Given the description of an element on the screen output the (x, y) to click on. 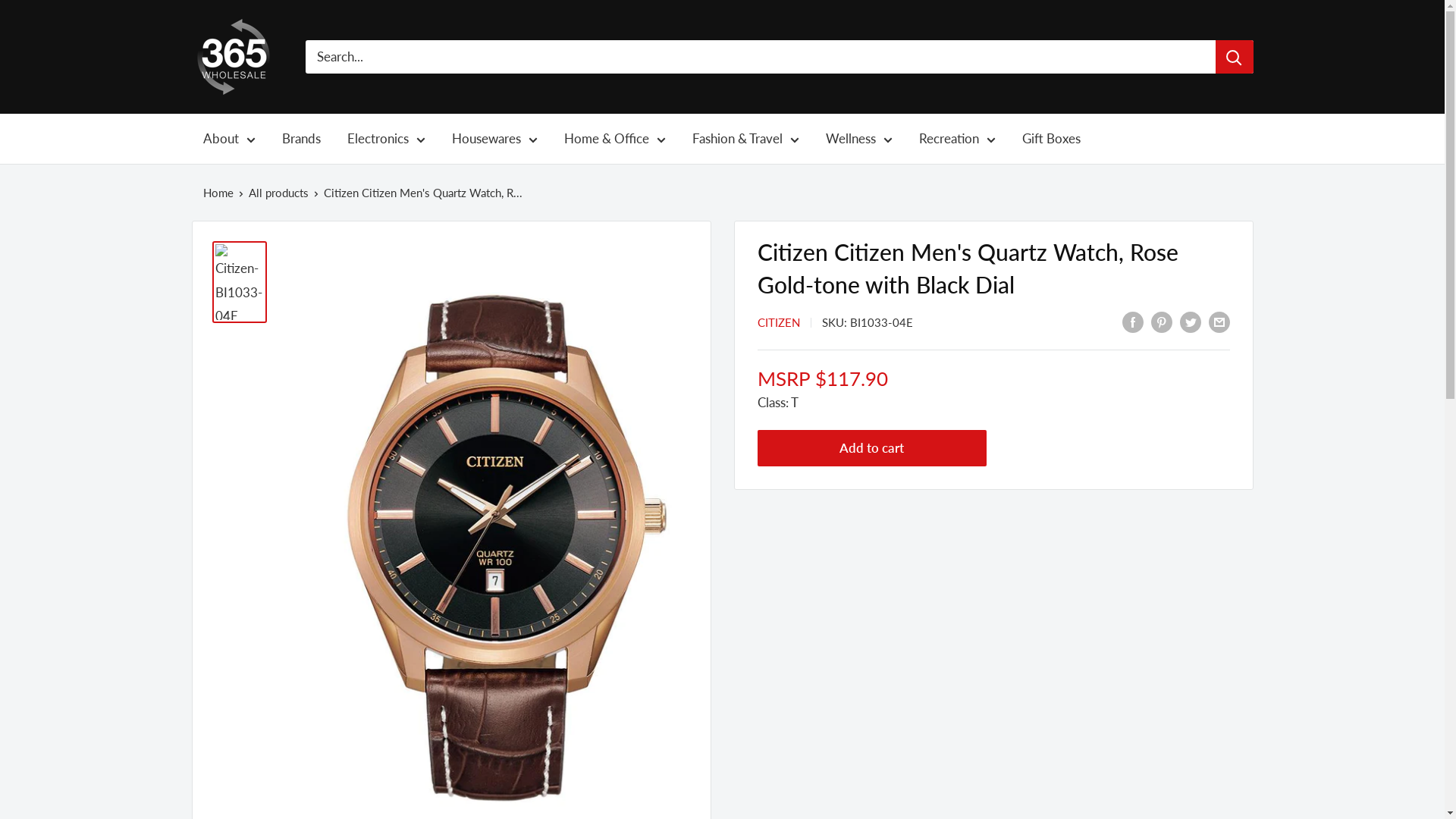
Electronics Element type: text (386, 138)
Home Element type: text (218, 192)
Fashion & Travel Element type: text (744, 138)
Brands Element type: text (301, 138)
All products Element type: text (278, 192)
CITIZEN Element type: text (777, 322)
Add to cart Element type: text (871, 447)
Recreation Element type: text (957, 138)
Wellness Element type: text (858, 138)
Home & Office Element type: text (614, 138)
About Element type: text (229, 138)
Gift Boxes Element type: text (1051, 138)
Housewares Element type: text (494, 138)
